Given the description of an element on the screen output the (x, y) to click on. 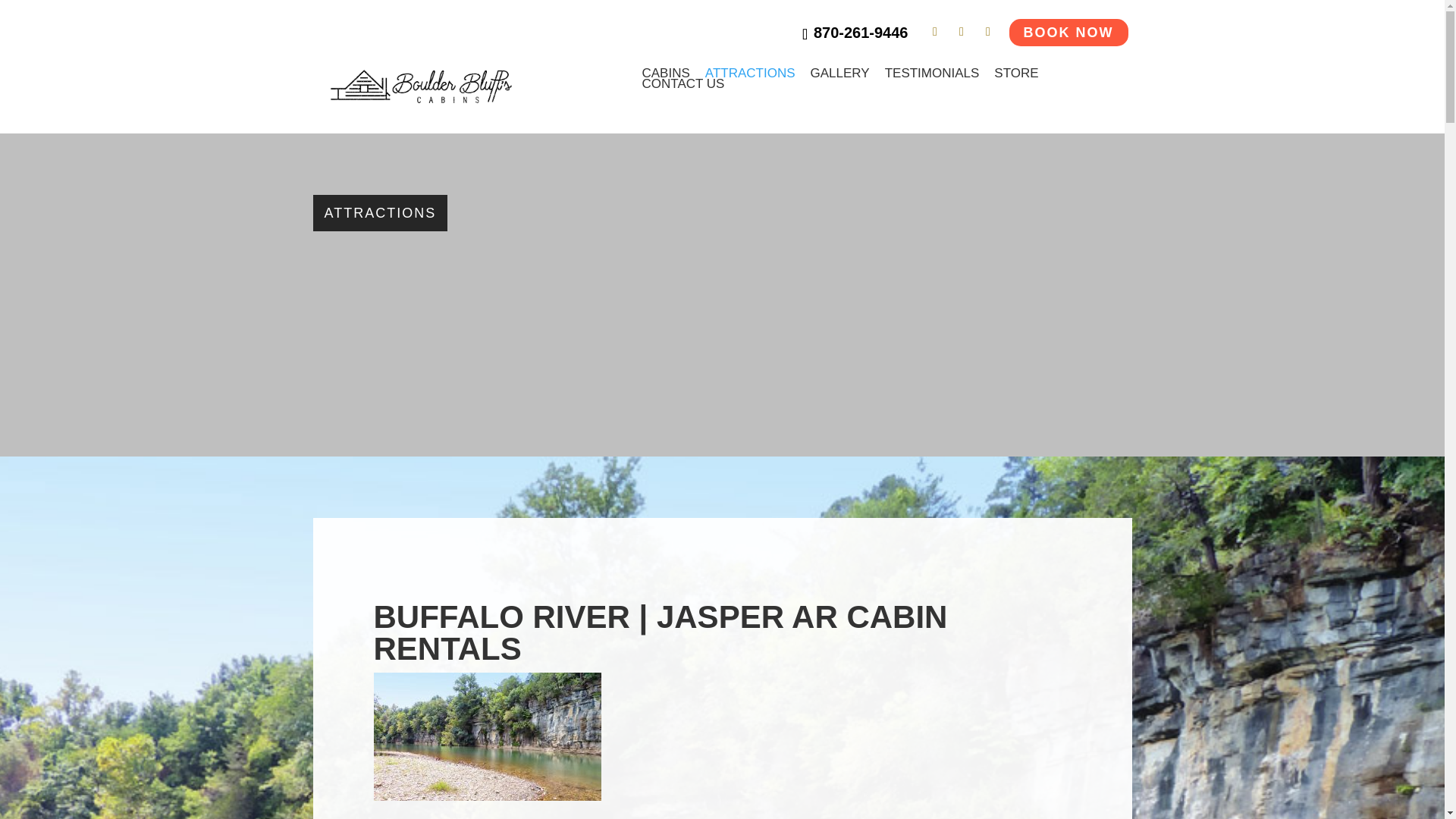
870-261-9446 (854, 32)
STORE (1016, 72)
CABINS (665, 72)
ATTRACTIONS (749, 72)
GALLERY (839, 72)
TESTIMONIALS (932, 72)
BOOK NOW (1067, 31)
CONTACT US (682, 83)
